Given the description of an element on the screen output the (x, y) to click on. 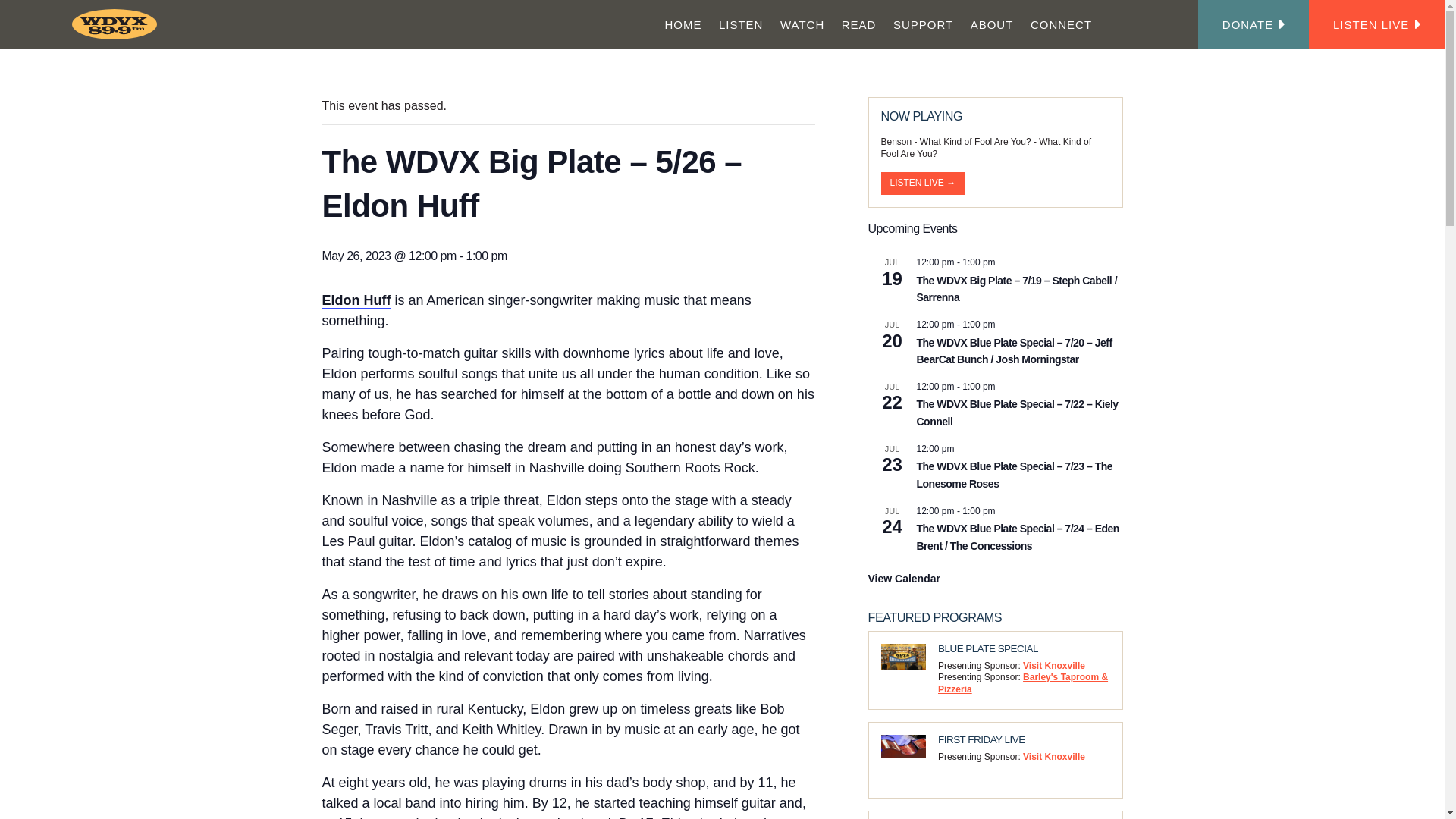
Eldon Huff (355, 300)
HOME (683, 24)
WATCH (801, 24)
YOUTUBE (1160, 24)
INSTAGRAM (1126, 24)
LISTEN (740, 24)
DONATE (1253, 24)
East Tennessee's Own WDVX (117, 24)
CONNECT (1061, 24)
View more events. (903, 578)
TWITTER (1142, 24)
FACEBOOK (1109, 24)
SUPPORT (923, 24)
READ (857, 24)
ABOUT (991, 24)
